Given the description of an element on the screen output the (x, y) to click on. 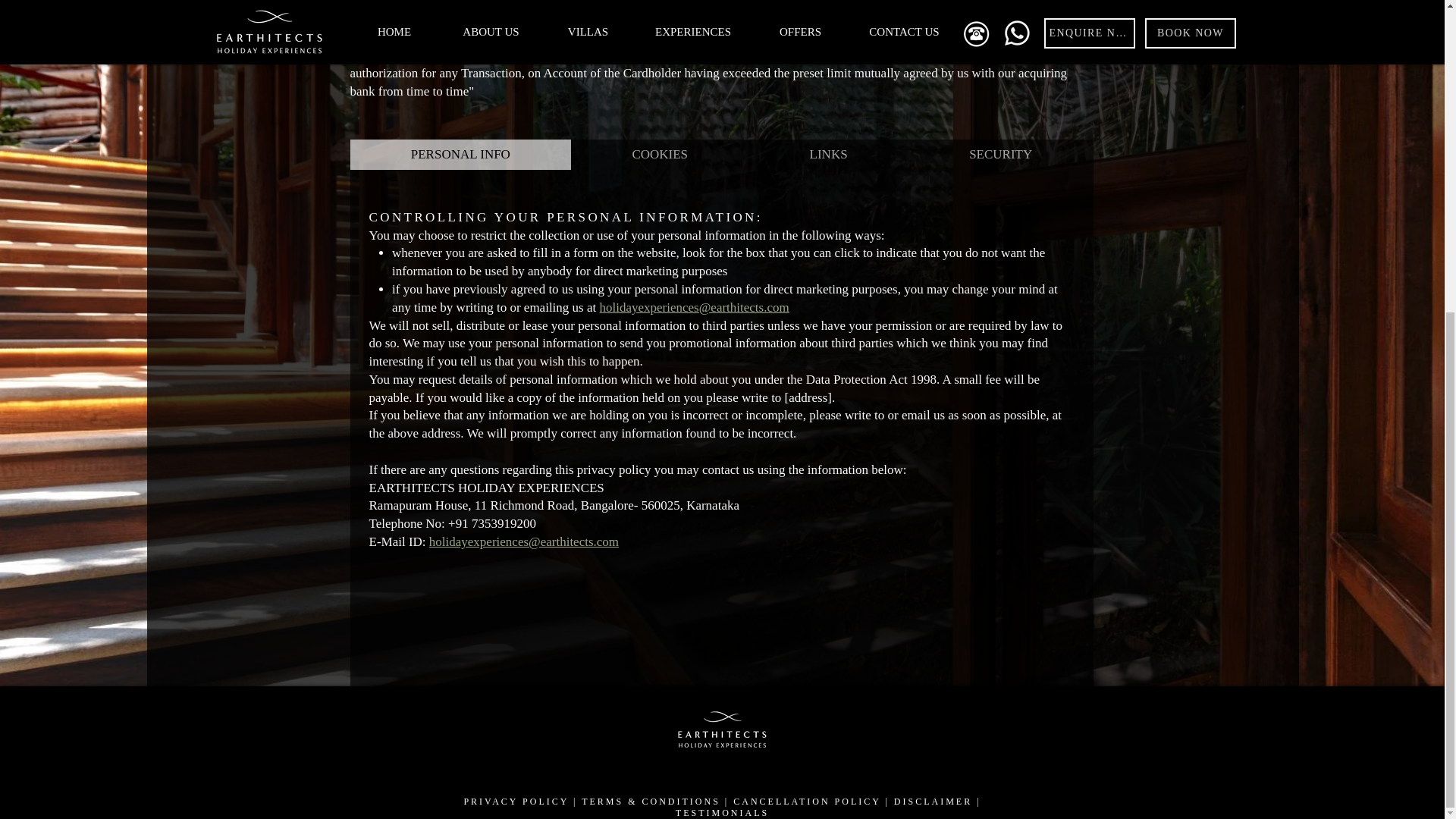
PRIVACY POLICY (516, 801)
TESTIMONIALS (721, 812)
DISCLAIMER (932, 801)
CANCELLATION POLICY (806, 801)
